Given the description of an element on the screen output the (x, y) to click on. 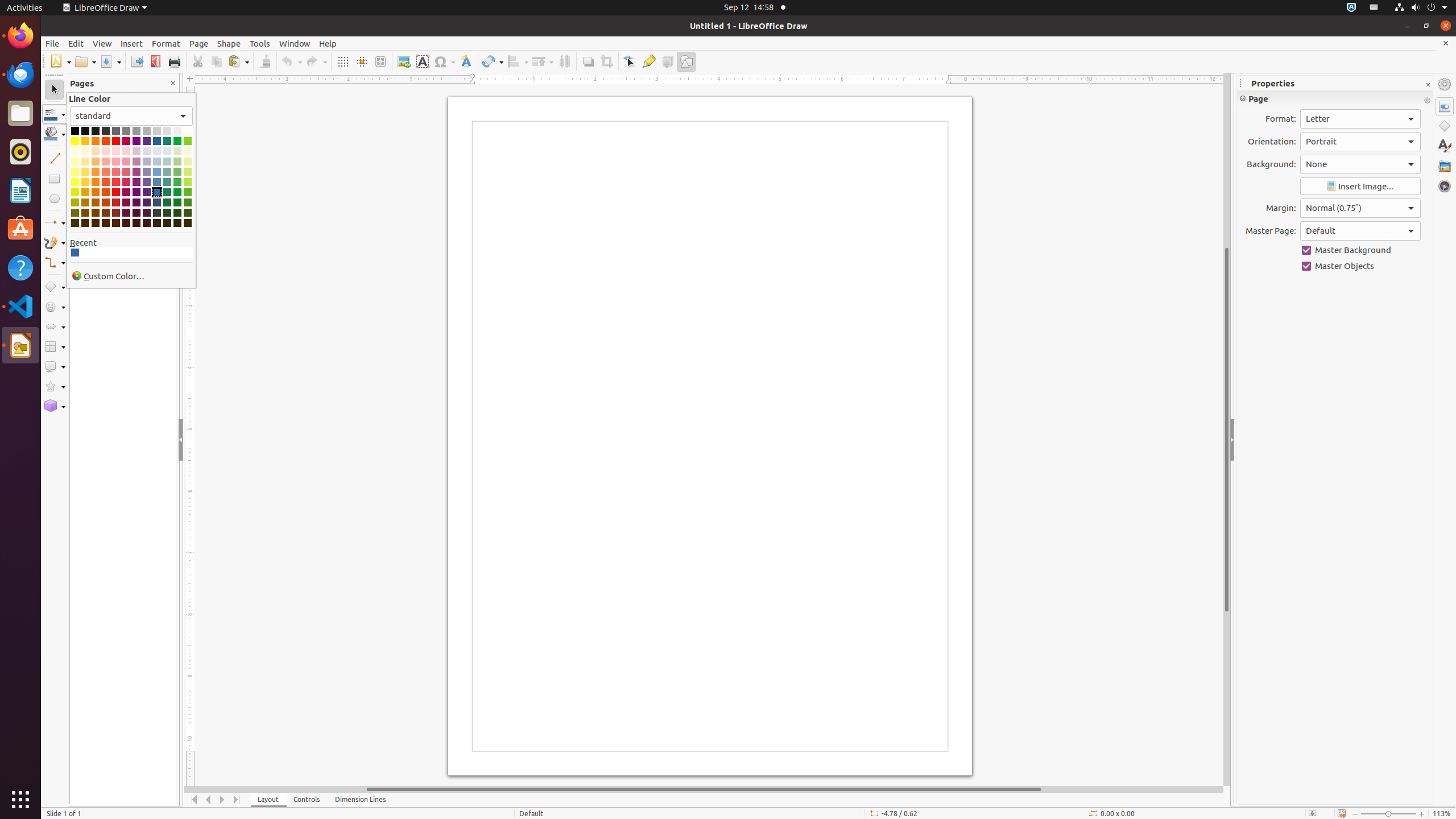
Paste Element type: push-button (237, 61)
Light Green 2 Element type: list-item (177, 171)
Light Indigo 4 Element type: list-item (146, 151)
Dark Teal 3 Element type: list-item (167, 212)
Dark Blue 2 Element type: list-item (156, 202)
